Given the description of an element on the screen output the (x, y) to click on. 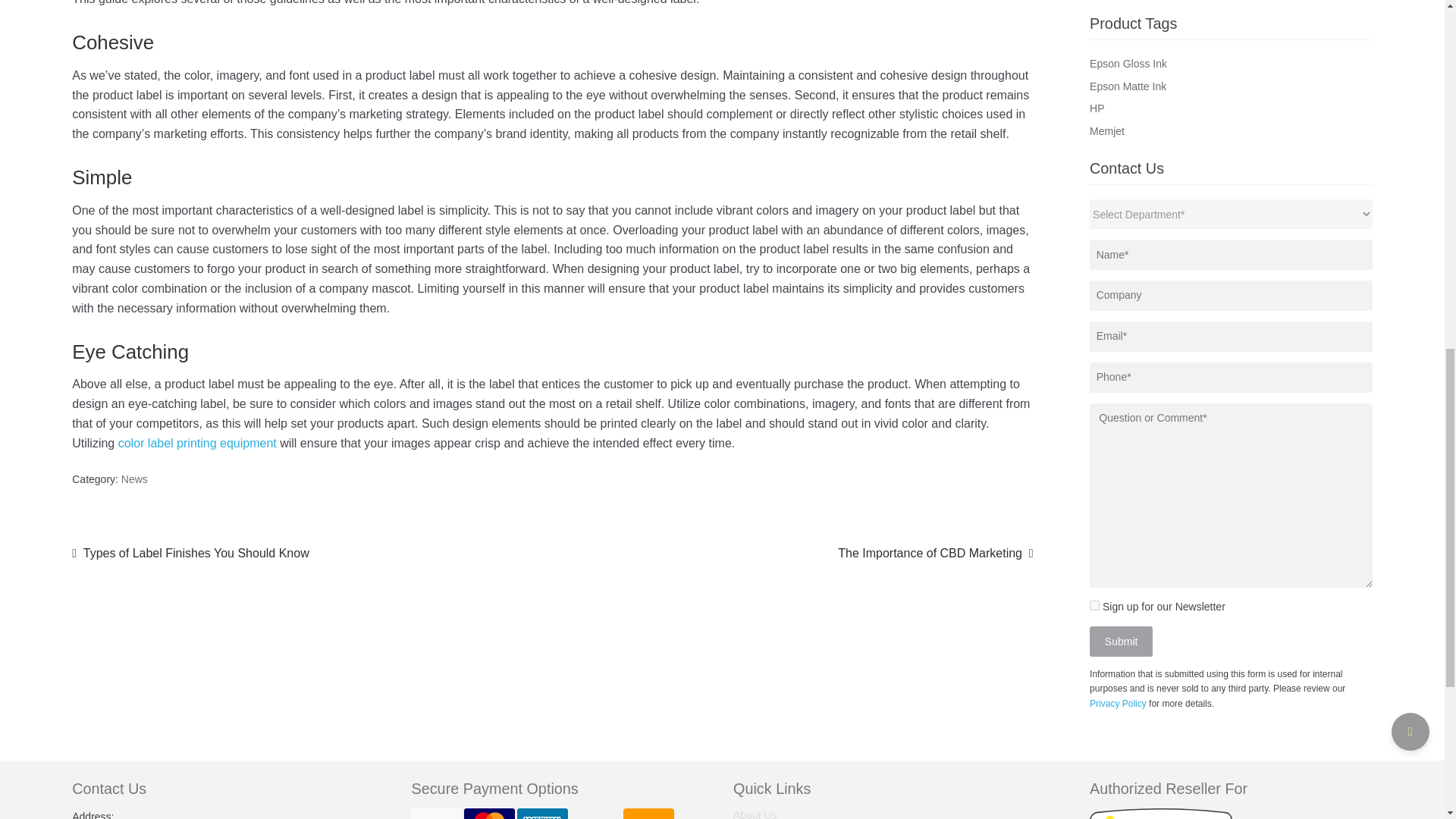
Submit (1121, 641)
Sign up for our Newsletter (1094, 605)
